Given the description of an element on the screen output the (x, y) to click on. 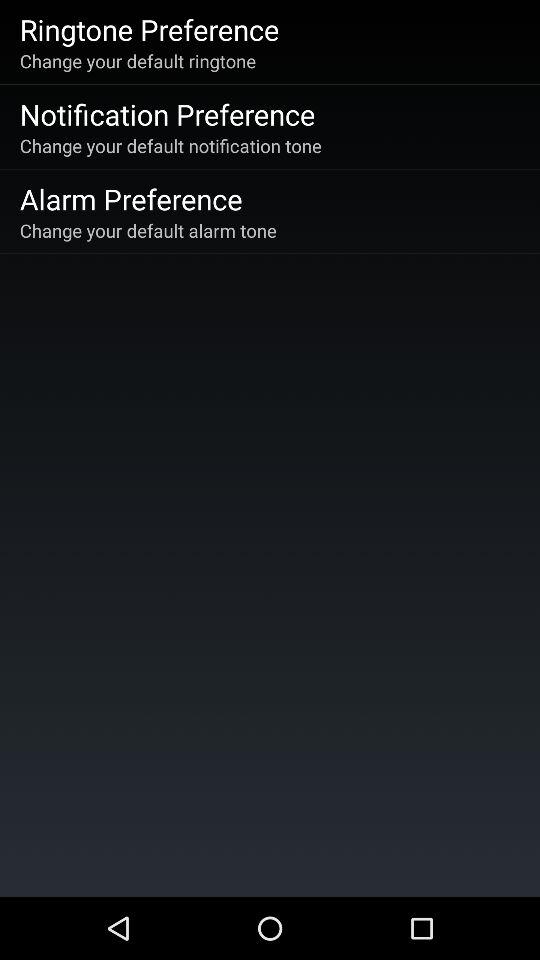
flip to the notification preference (167, 113)
